Given the description of an element on the screen output the (x, y) to click on. 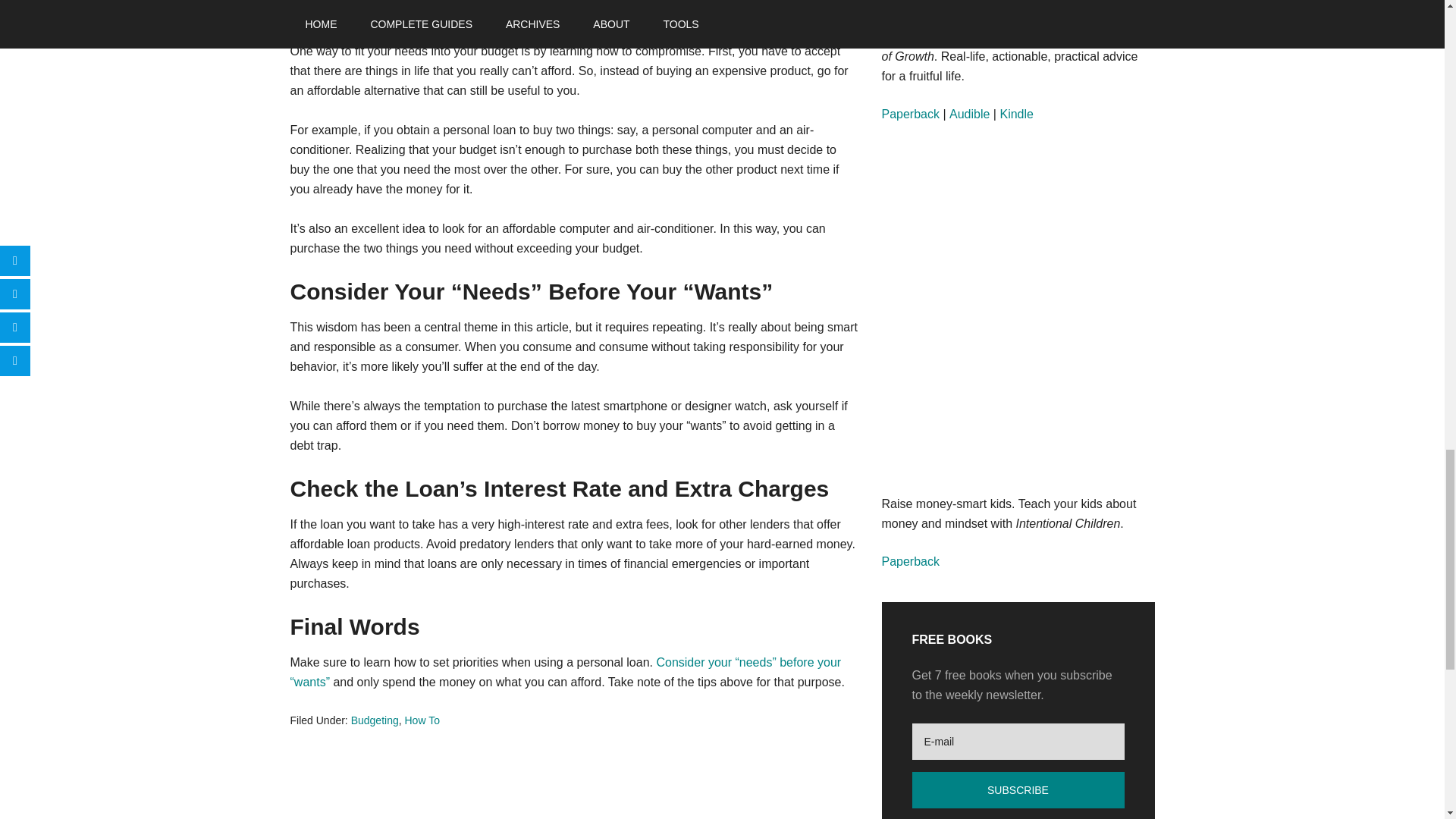
Subscribe (1017, 790)
